Given the description of an element on the screen output the (x, y) to click on. 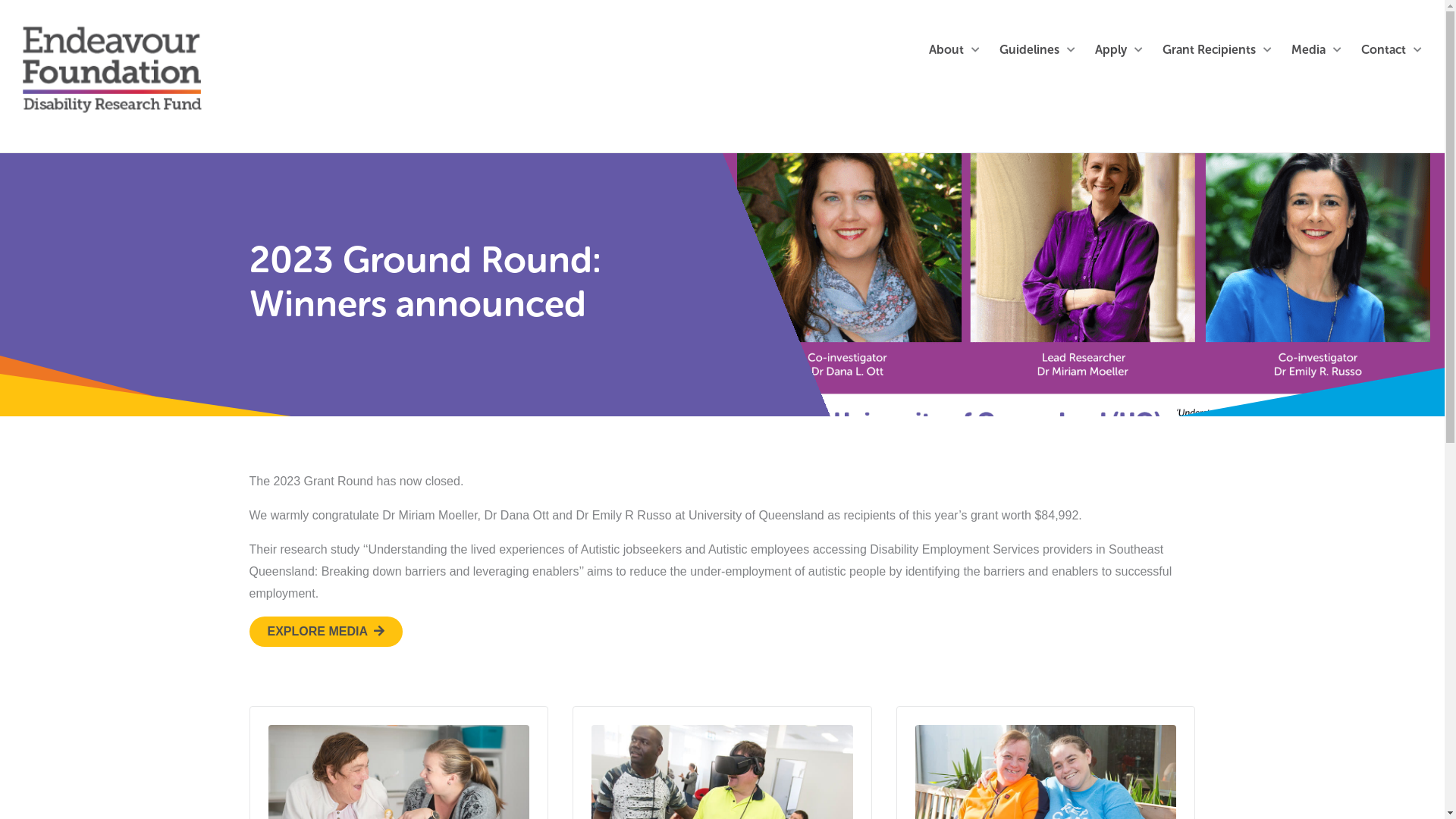
EXPLORE MEDIA Element type: text (327, 630)
